Given the description of an element on the screen output the (x, y) to click on. 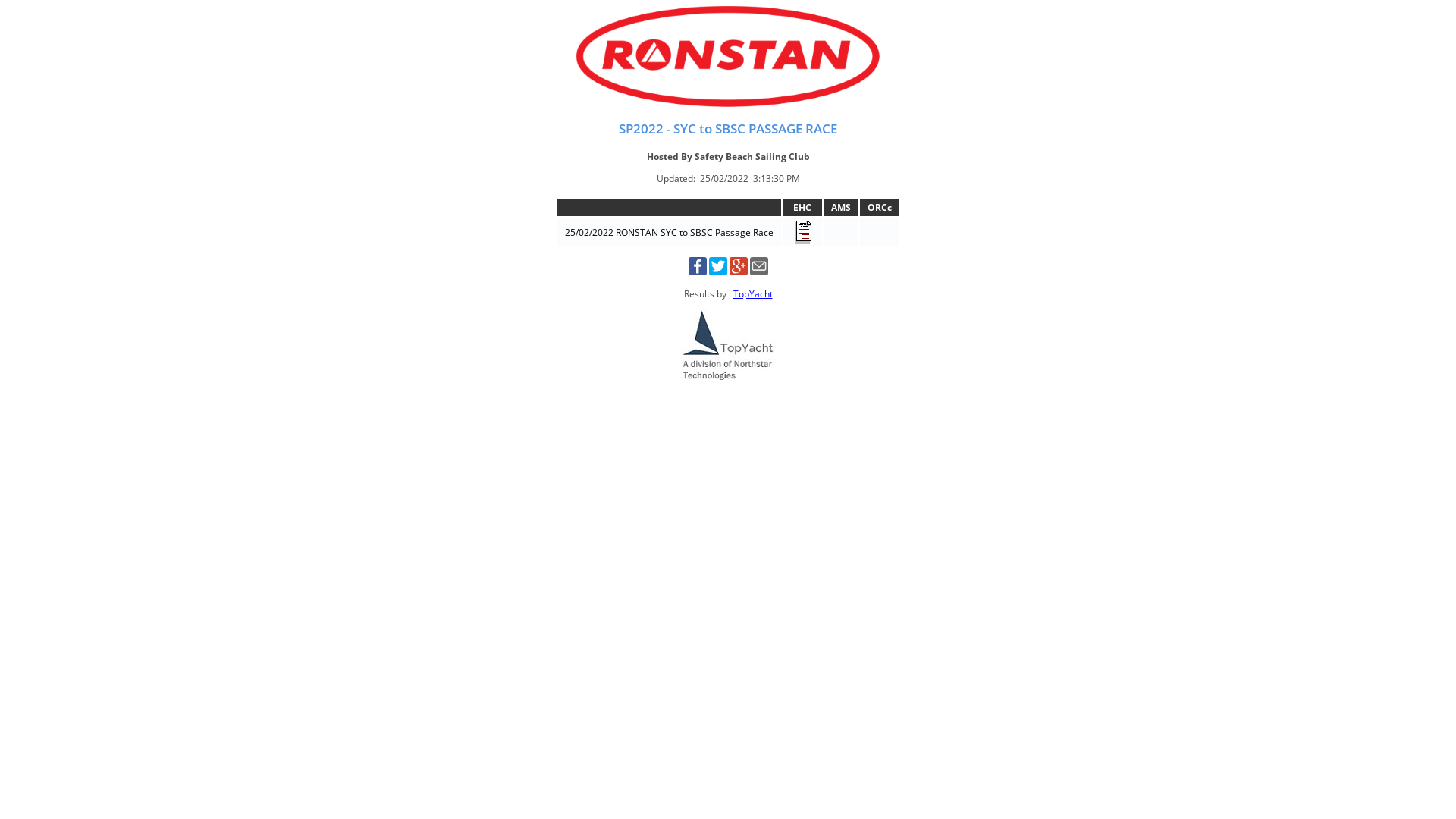
Share on Facebook Element type: hover (697, 271)
Tweet Element type: hover (717, 271)
TopYacht Element type: text (751, 293)
Share on Google+ Element type: hover (738, 271)
Send email Element type: hover (758, 271)
